Given the description of an element on the screen output the (x, y) to click on. 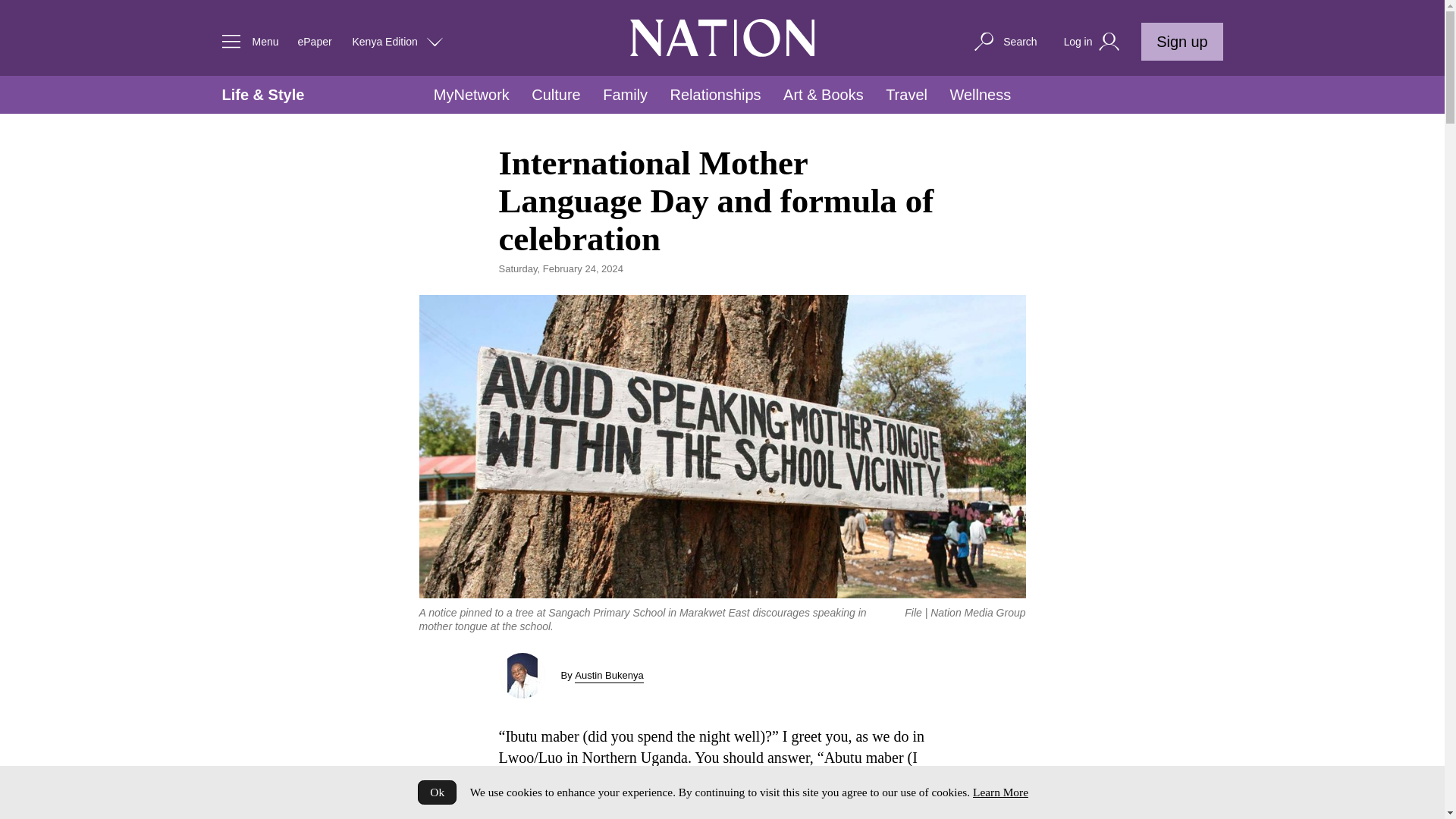
Ok (437, 792)
Kenya Edition (398, 41)
Menu (246, 41)
Sign up (1182, 41)
Relationships (715, 94)
Culture (555, 94)
ePaper (314, 41)
MyNetwork (471, 94)
Learn More (999, 791)
Family (624, 94)
Log in (1094, 41)
Learn More (999, 791)
Search (1003, 41)
Travel (906, 94)
Wellness (979, 94)
